Given the description of an element on the screen output the (x, y) to click on. 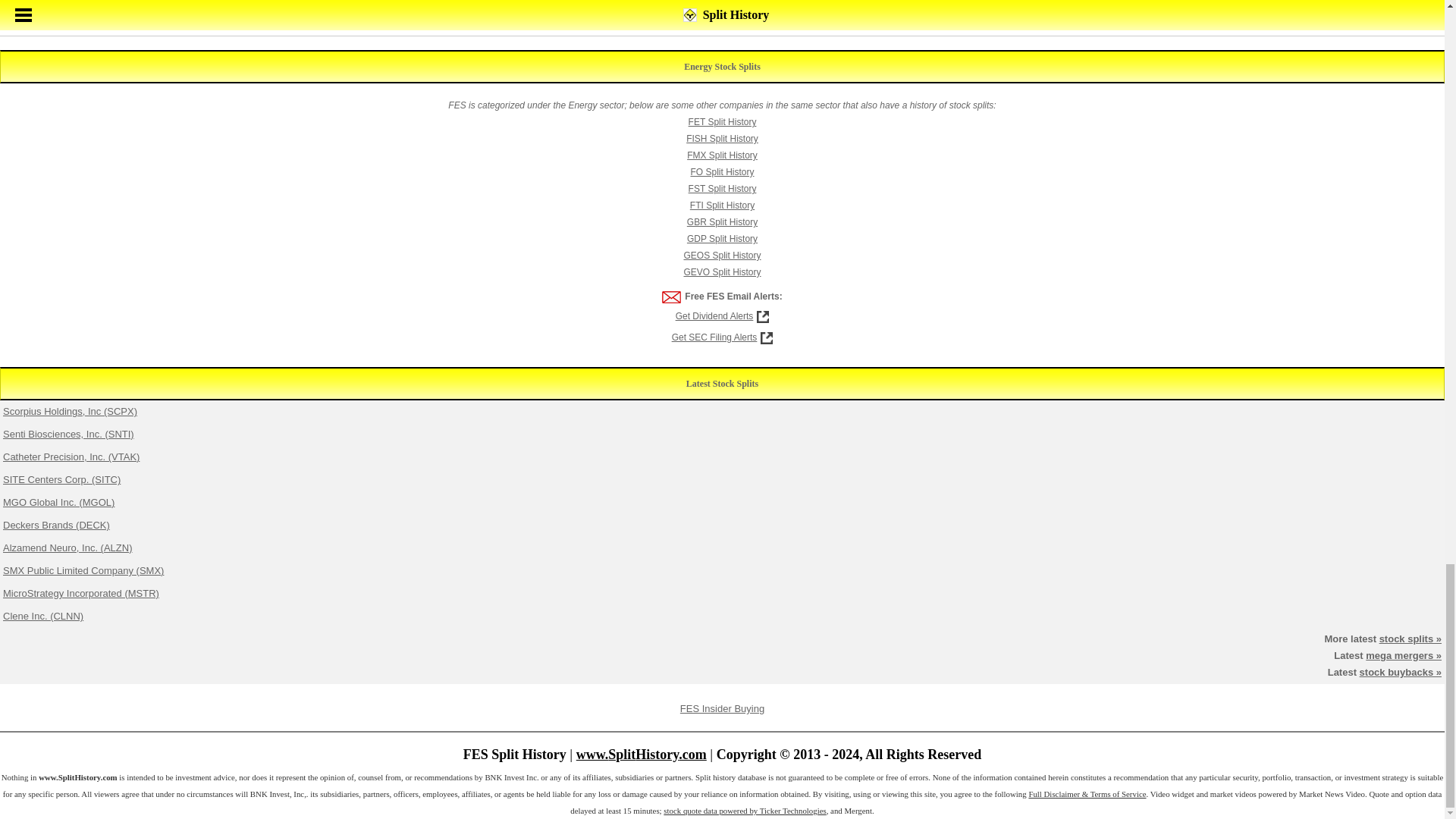
FISH Split History (721, 138)
FMX Split History (722, 154)
FO Split History (722, 172)
FET Split History (722, 122)
